Given the description of an element on the screen output the (x, y) to click on. 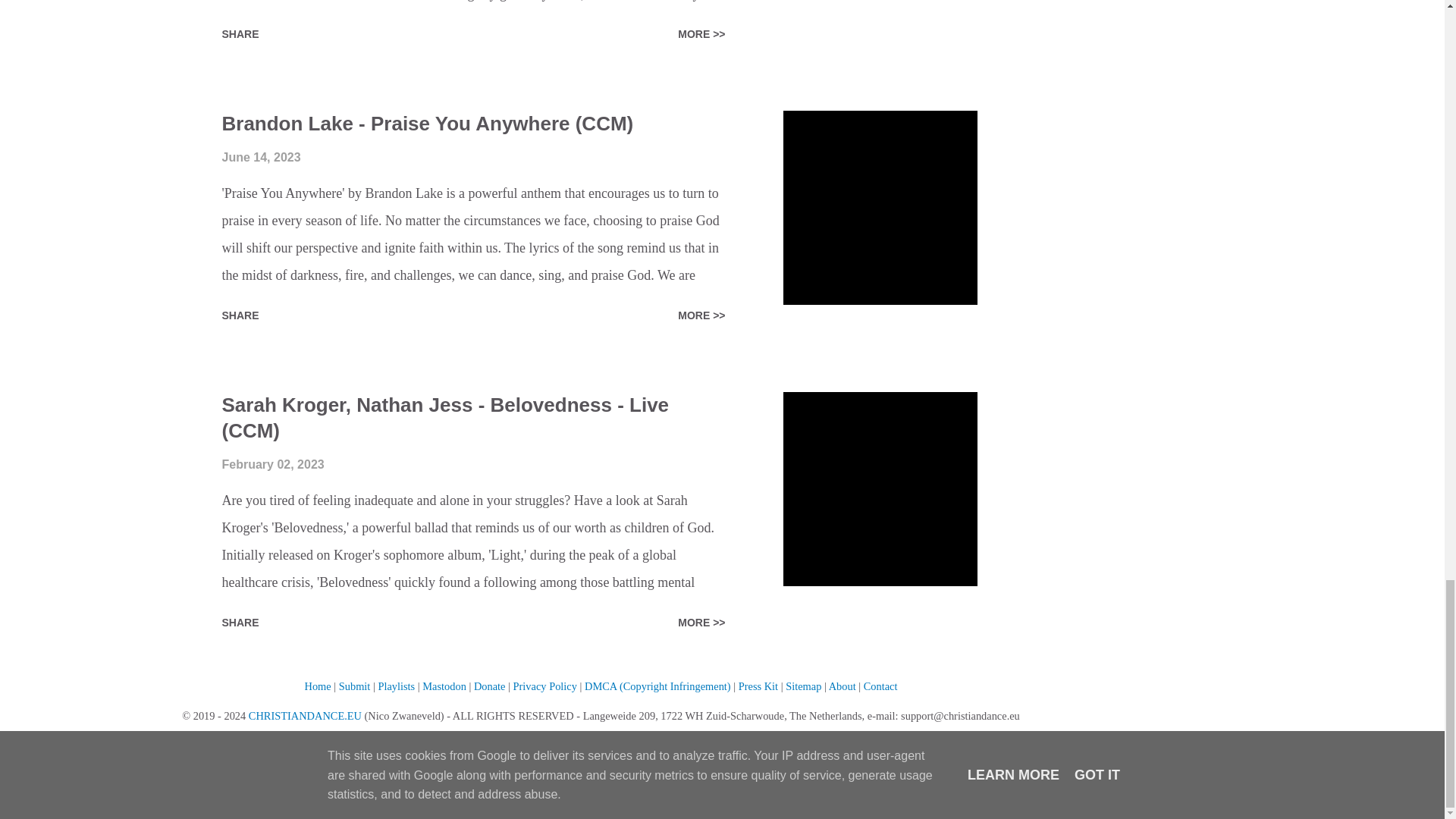
June 14, 2023 (260, 156)
SHARE (239, 315)
SHARE (239, 33)
